Given the description of an element on the screen output the (x, y) to click on. 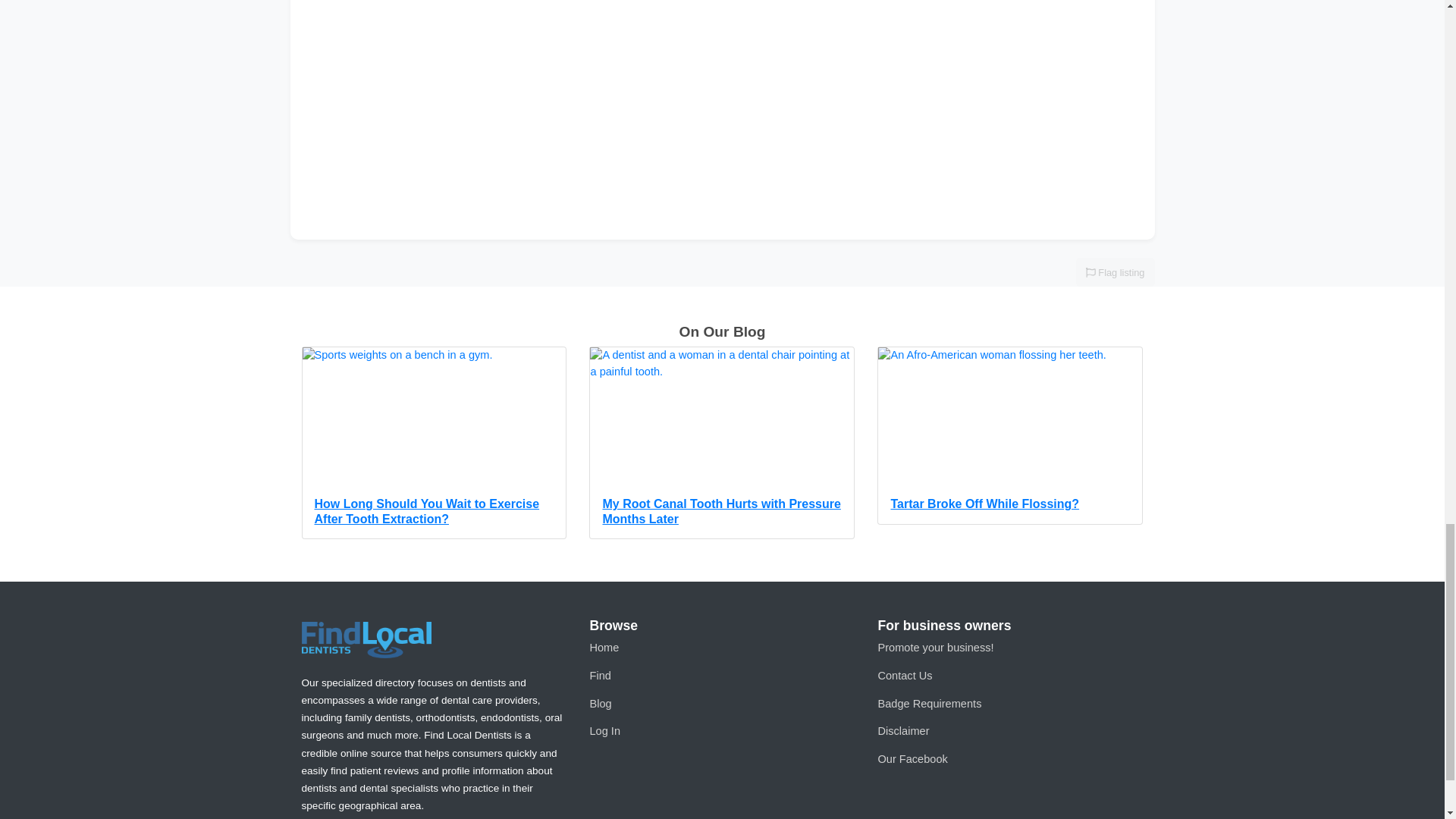
My Root Canal Tooth Hurts with Pressure Months Later (721, 442)
Tartar Broke Off While Flossing? (1009, 435)
Flag listing (1114, 271)
Find (599, 675)
Home (603, 647)
How Long Should You Wait to Exercise After Tooth Extraction? (434, 442)
Blog (600, 703)
Log In (604, 730)
Promote your business! (934, 647)
